Given the description of an element on the screen output the (x, y) to click on. 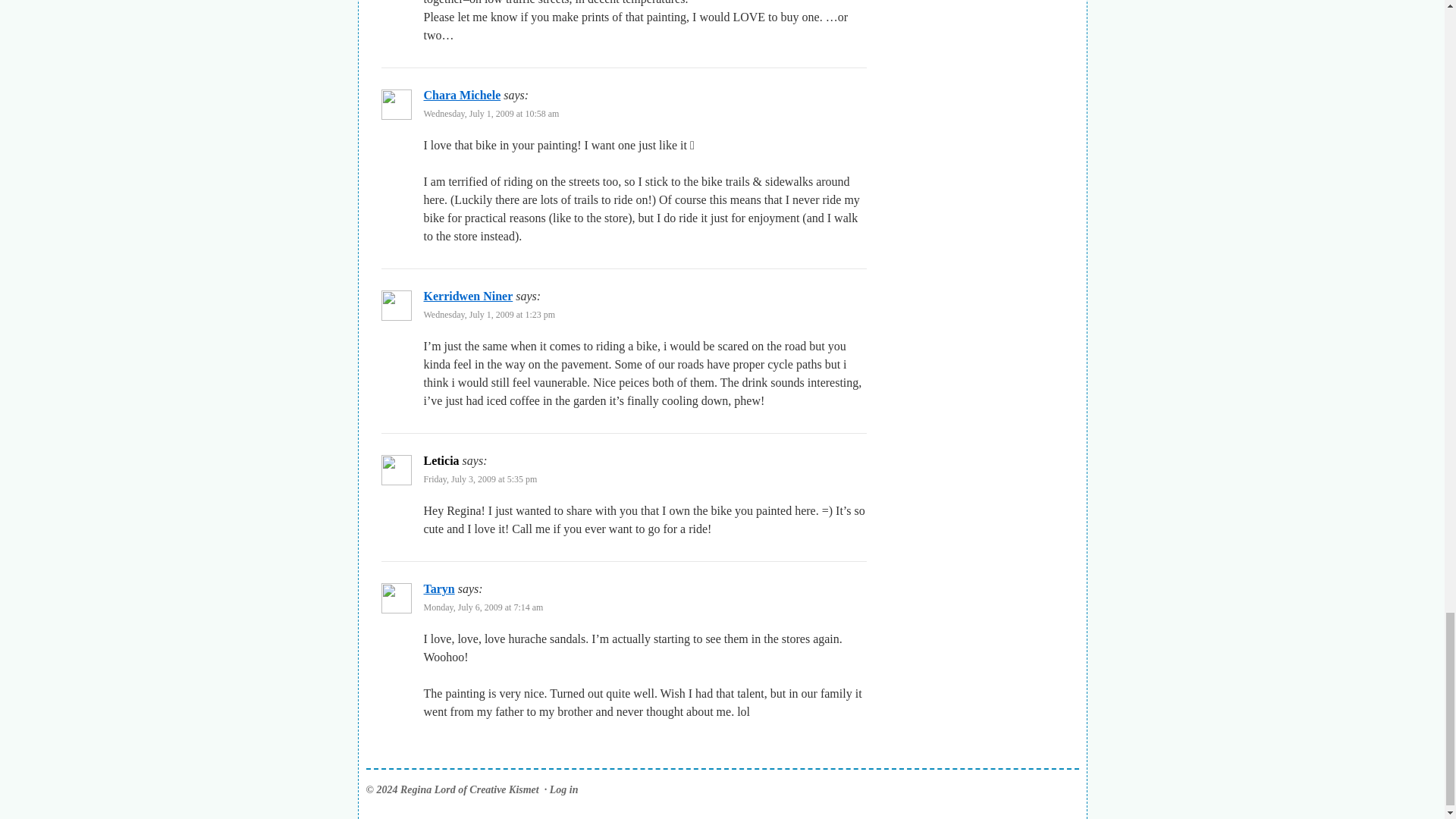
Regina Lord of Creative Kismet (451, 789)
